Given the description of an element on the screen output the (x, y) to click on. 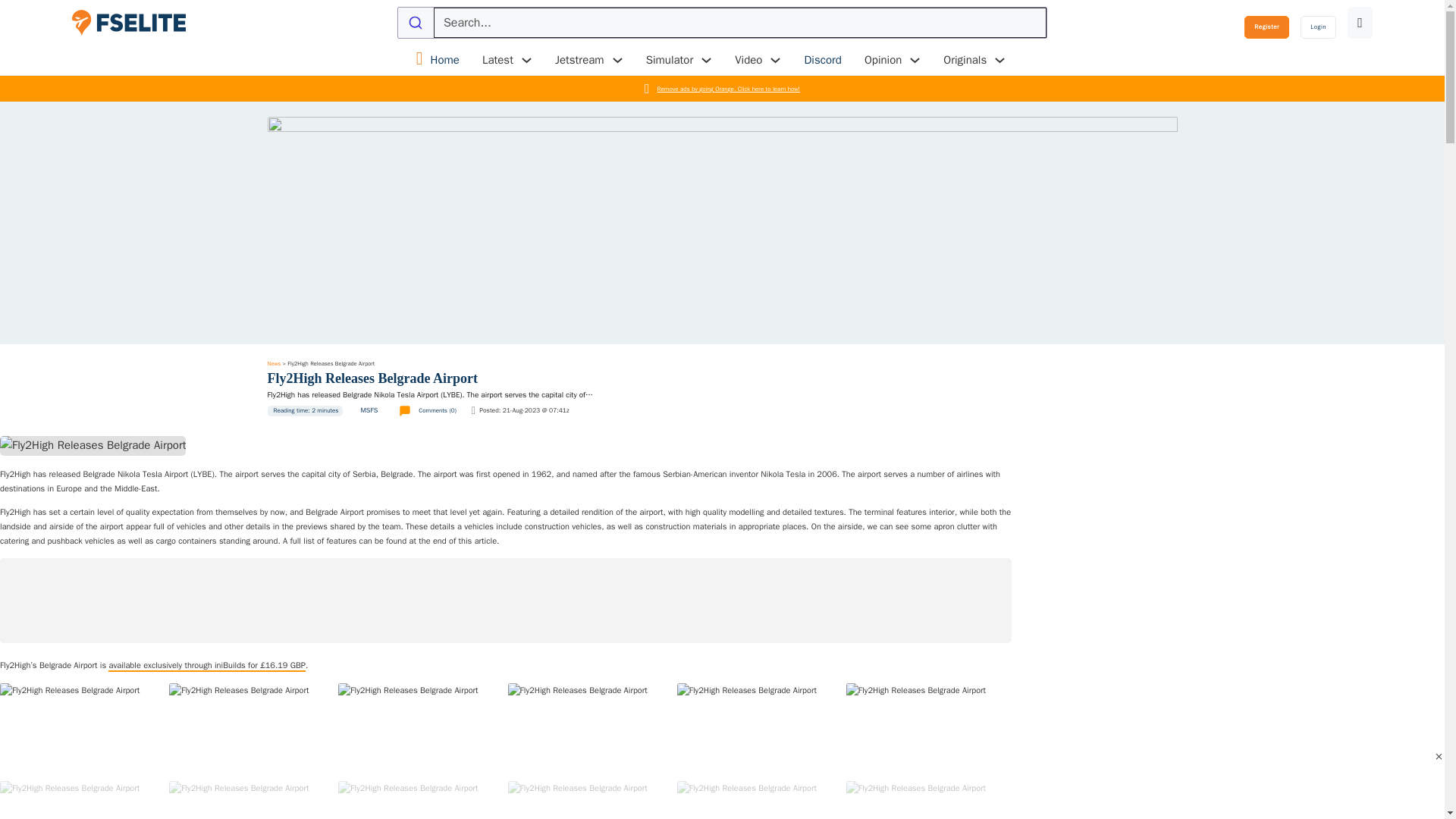
Fly2High Releases Belgrade Airport (438, 410)
Latest (497, 60)
Home (445, 61)
Video (748, 60)
Login to FSElite (1318, 26)
Fly2High Releases Belgrade Airport 12 (928, 800)
Login (1318, 26)
Fly2High Releases Belgrade Airport 2 (251, 729)
Fly2High Releases Belgrade Airport 3 (420, 729)
Jetstream (579, 60)
Fly2High Releases Belgrade Airport 6 (928, 729)
Fly2High Releases Belgrade Airport 8 (251, 800)
Fly2High Releases Belgrade Airport 7 (82, 800)
Fly2High Releases Belgrade Airport 9 (420, 800)
Register (1266, 26)
